Given the description of an element on the screen output the (x, y) to click on. 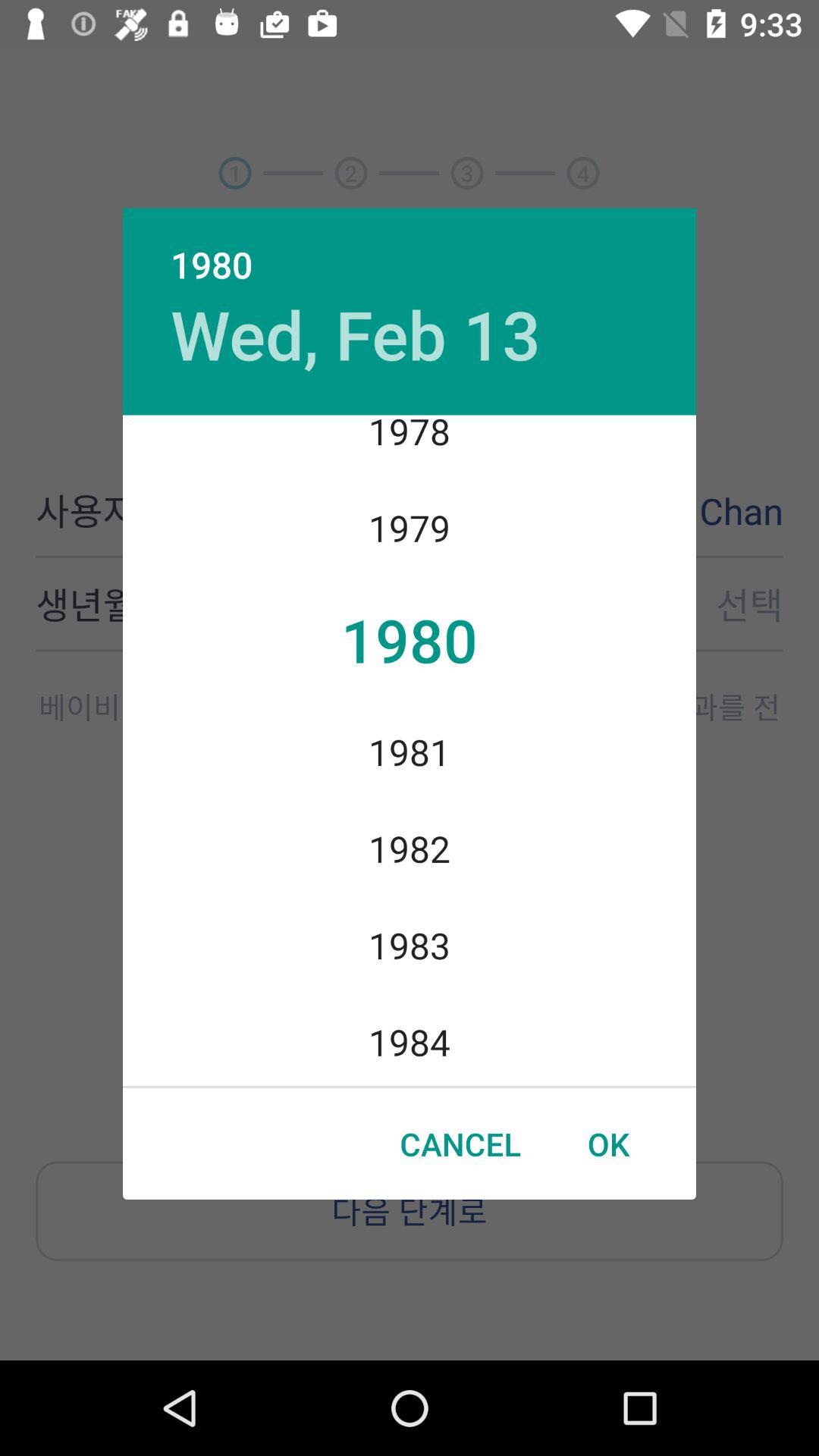
open the item to the right of the cancel item (608, 1143)
